Given the description of an element on the screen output the (x, y) to click on. 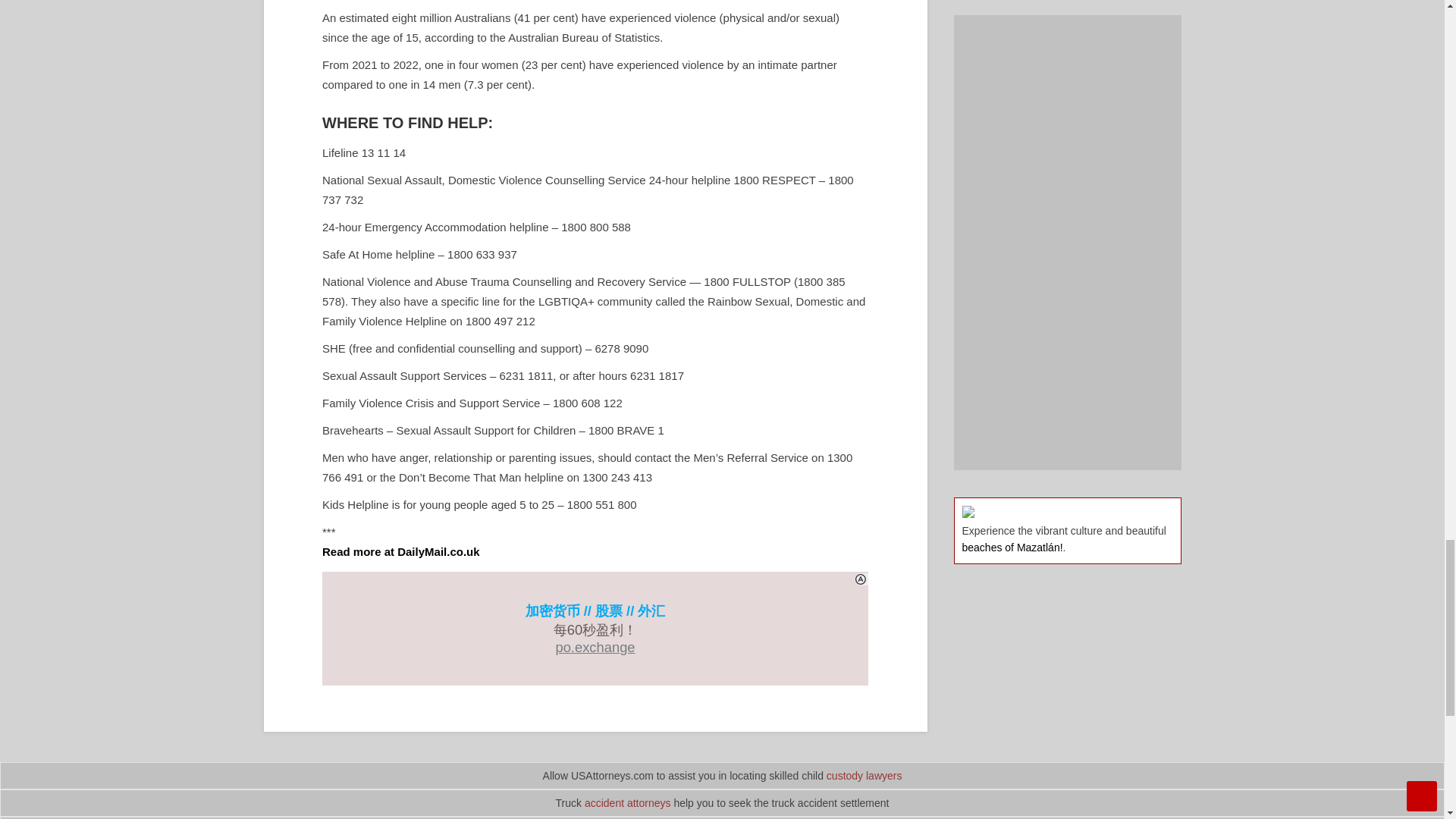
Read more at DailyMail.co.uk (400, 551)
custody lawyers (864, 775)
accident attorneys (628, 802)
